Given the description of an element on the screen output the (x, y) to click on. 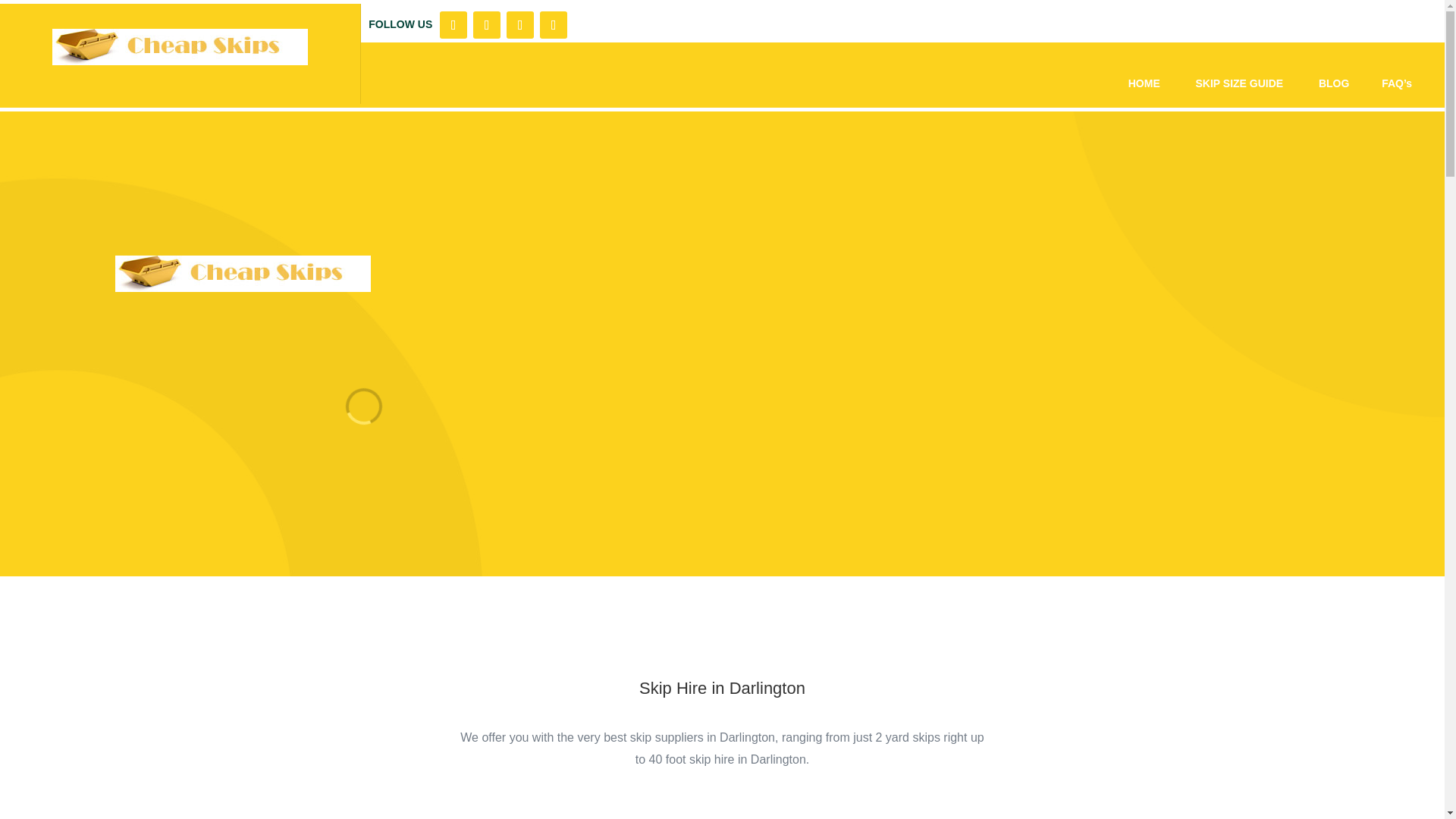
SKIP SIZE GUIDE (1240, 82)
Follow on X (486, 24)
BLOG (1334, 82)
Cheap Skips (179, 46)
Follow on Instagram (520, 24)
Follow on Pinterest (553, 24)
Cheap Skips (243, 273)
HOME (1144, 82)
Follow on Facebook (453, 24)
